Given the description of an element on the screen output the (x, y) to click on. 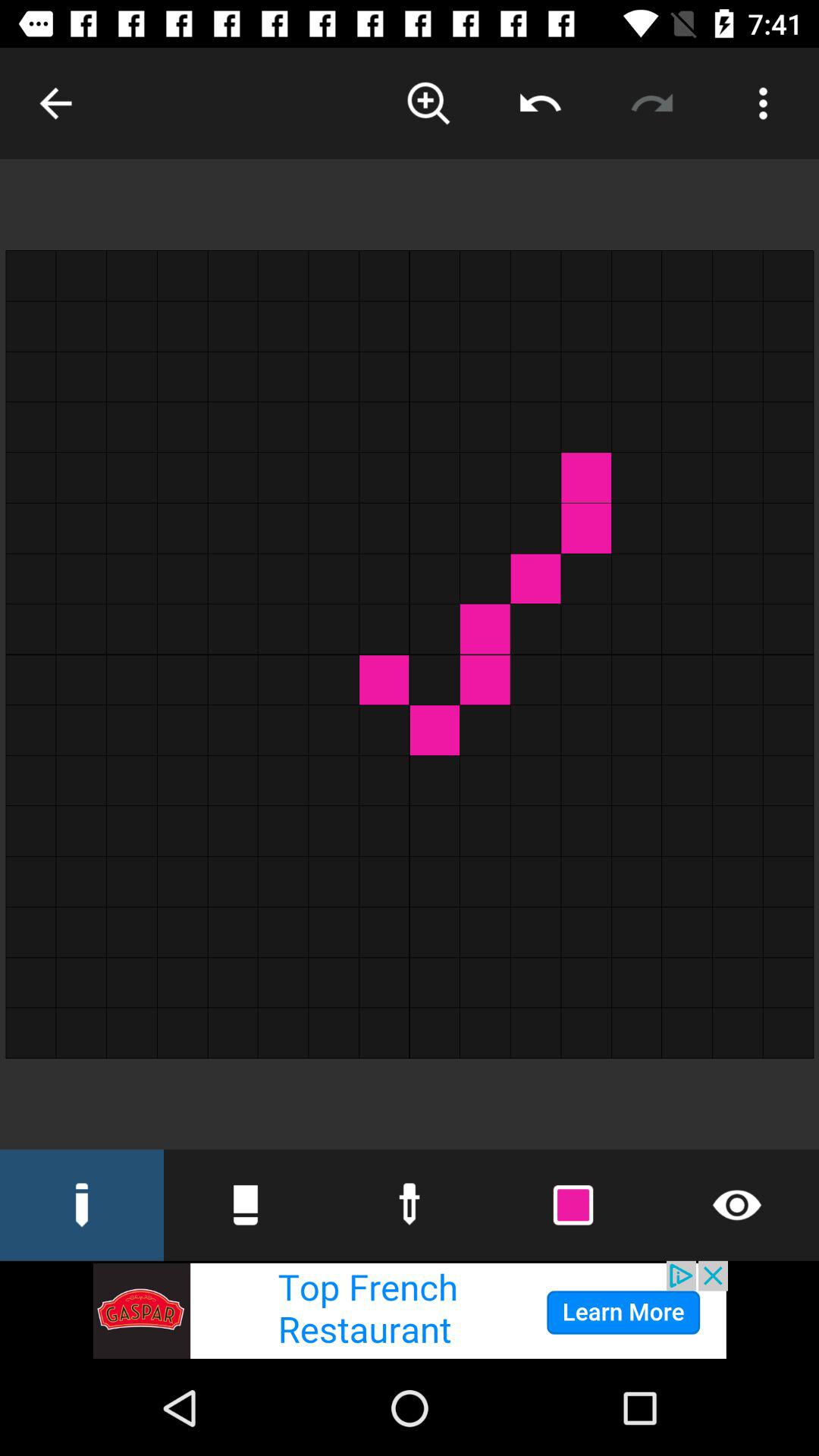
back the page (55, 103)
